Given the description of an element on the screen output the (x, y) to click on. 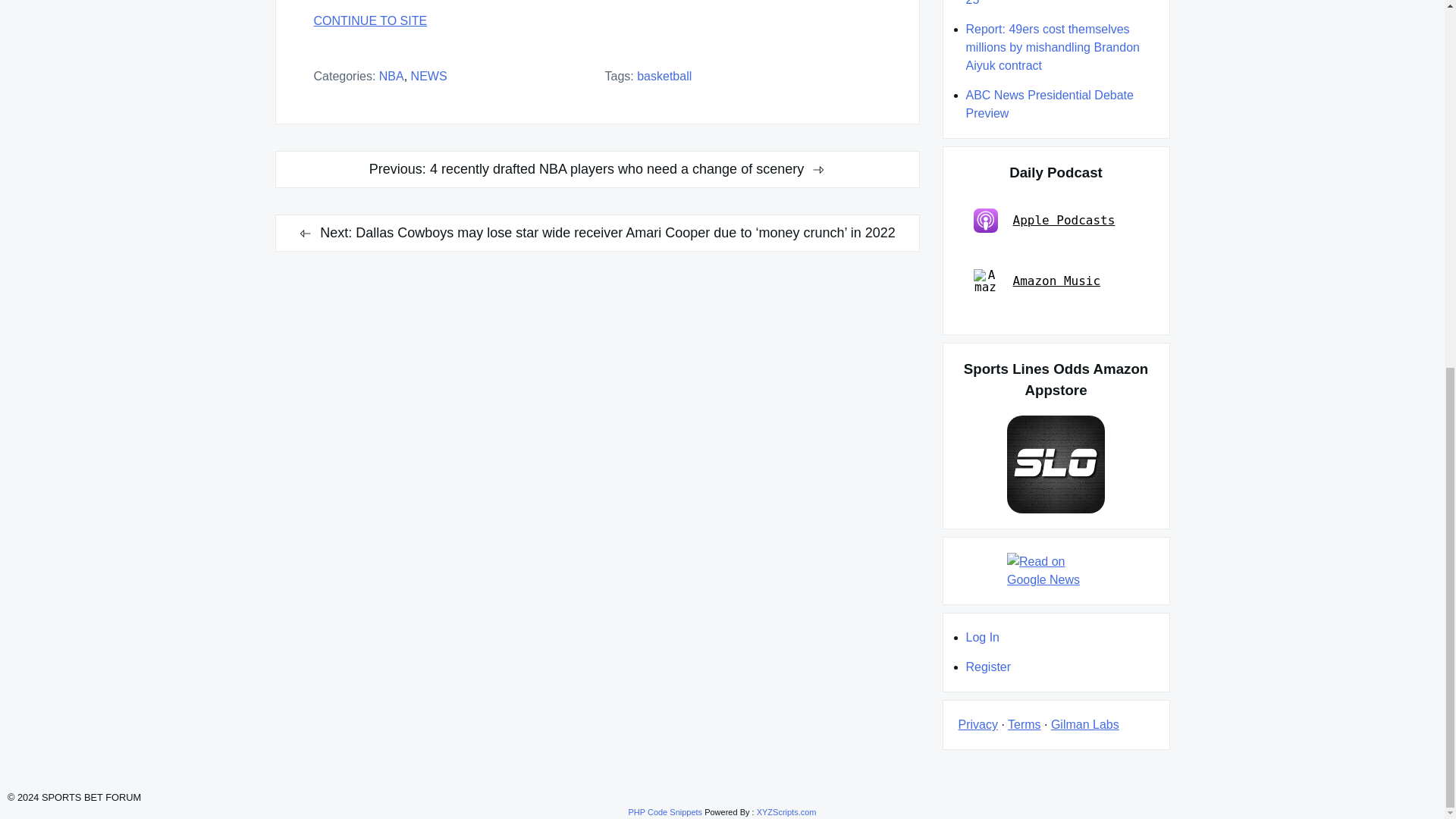
basketball (664, 75)
CONTINUE TO SITE (597, 21)
NBA (391, 75)
NEWS (428, 75)
